Given the description of an element on the screen output the (x, y) to click on. 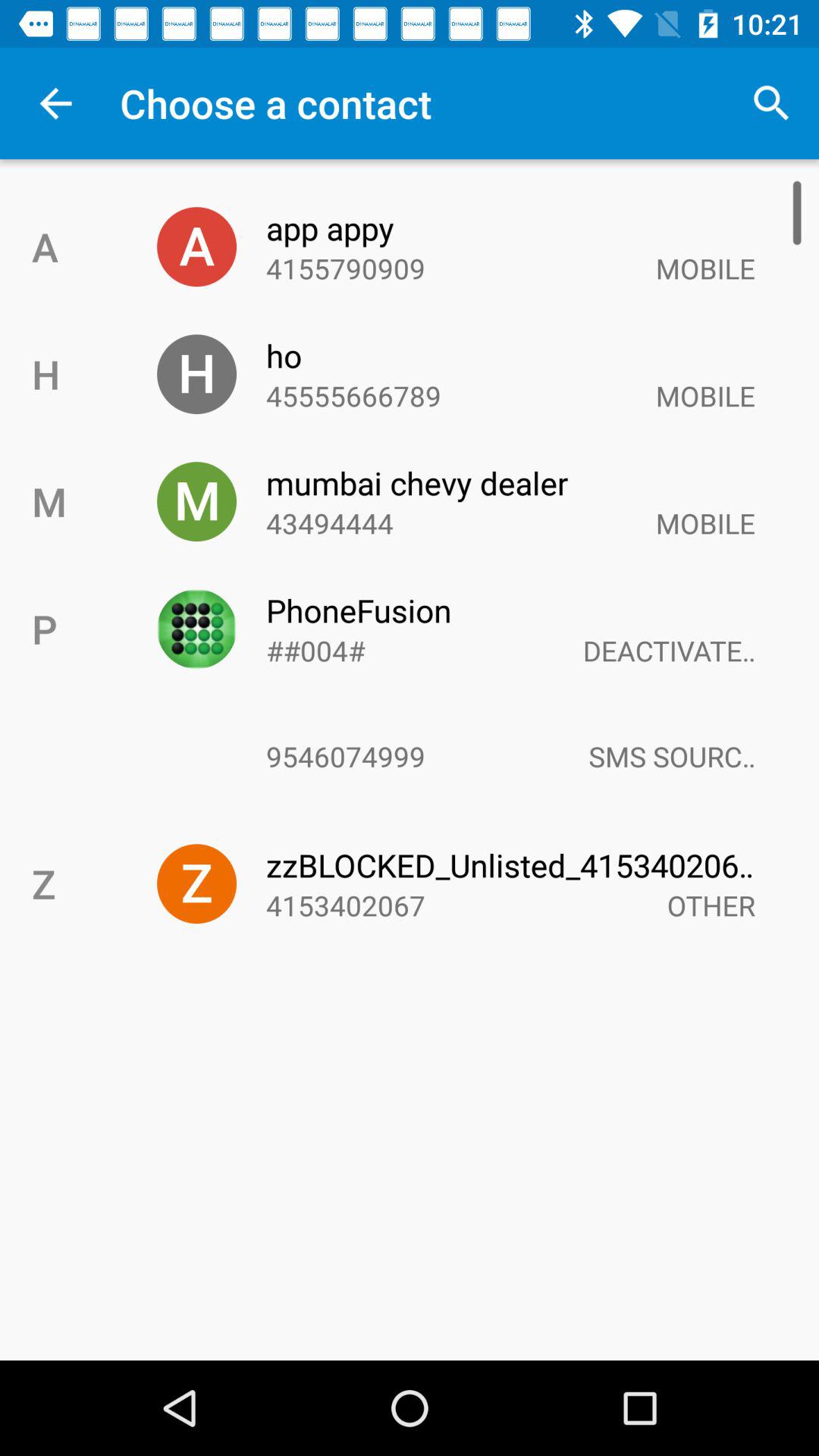
choose the item to the right of choose a contact icon (771, 103)
